Given the description of an element on the screen output the (x, y) to click on. 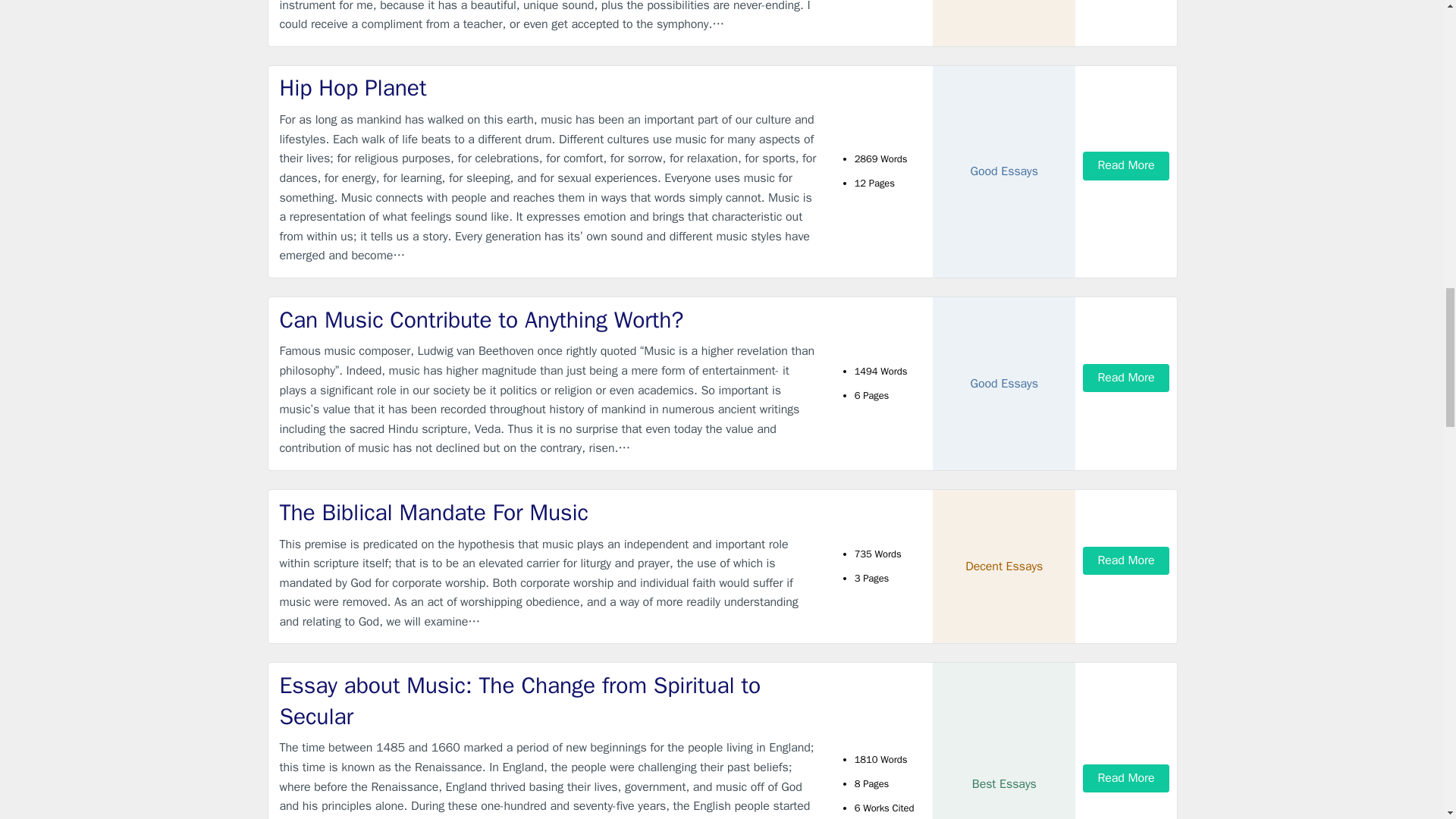
Essay about Music: The Change from Spiritual to Secular (548, 701)
Read More (1126, 560)
Hip Hop Planet (548, 88)
Read More (1126, 778)
Can Music Contribute to Anything Worth? (548, 319)
The Biblical Mandate For Music (548, 512)
Read More (1126, 377)
Read More (1126, 165)
